Given the description of an element on the screen output the (x, y) to click on. 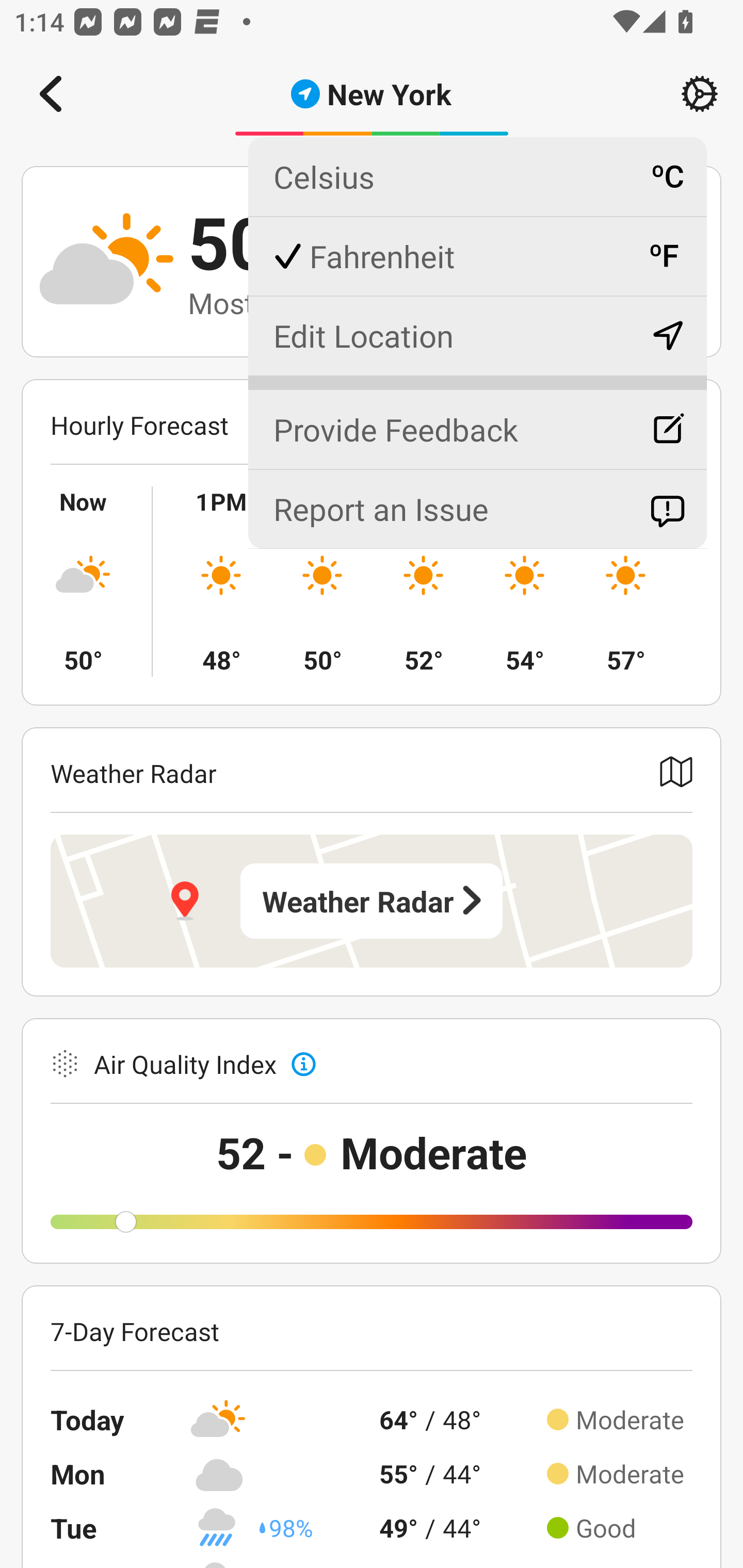
Celsius (477, 176)
Fahrenheit (477, 256)
Edit Location (477, 335)
Provide Feedback (477, 421)
Report an Issue (477, 508)
